Given the description of an element on the screen output the (x, y) to click on. 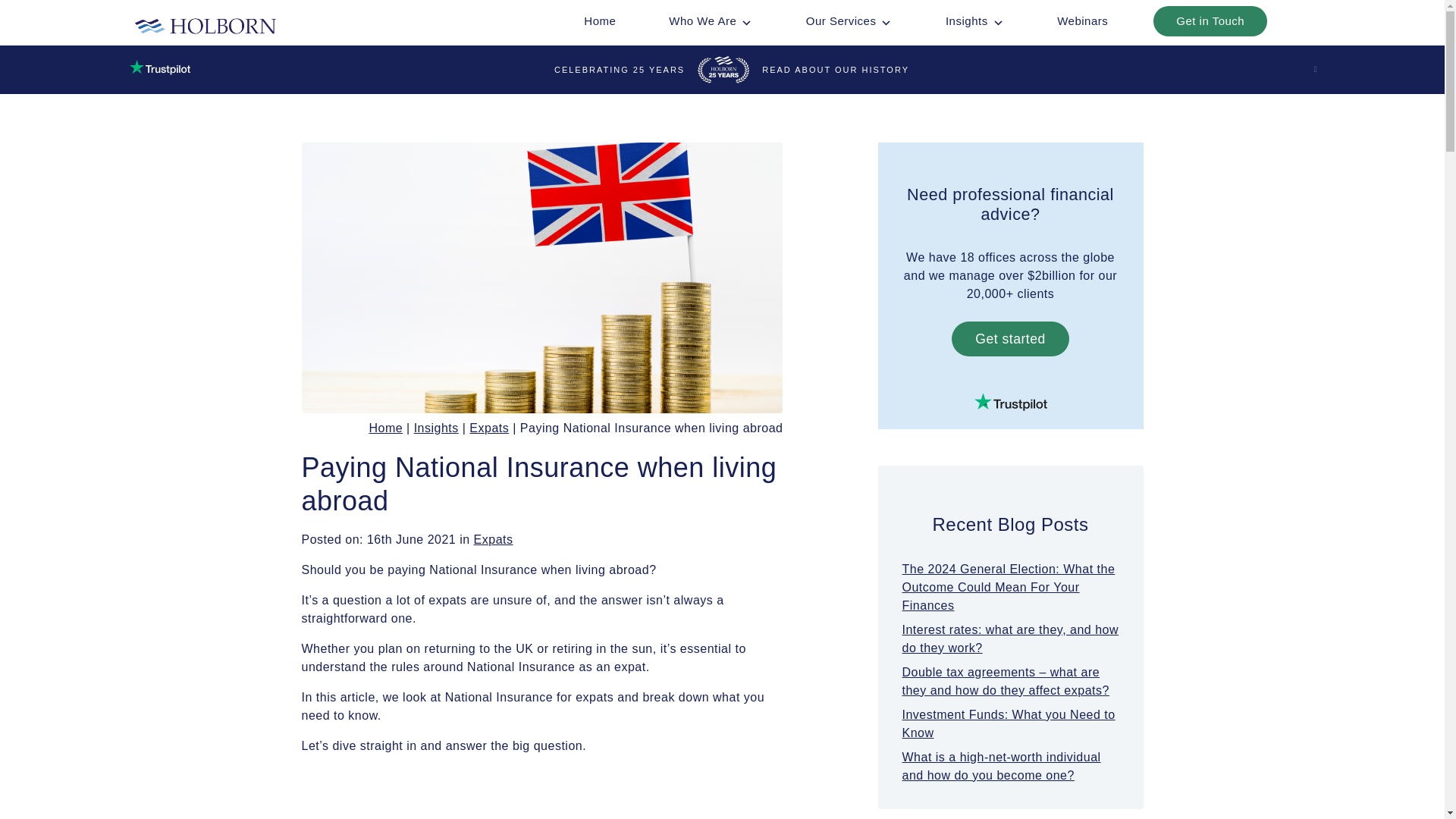
Home (599, 20)
Who We Are (710, 20)
View all (493, 539)
Insights (974, 20)
Our Services (848, 20)
Customer reviews powered by Trustpilot (1010, 402)
